Given the description of an element on the screen output the (x, y) to click on. 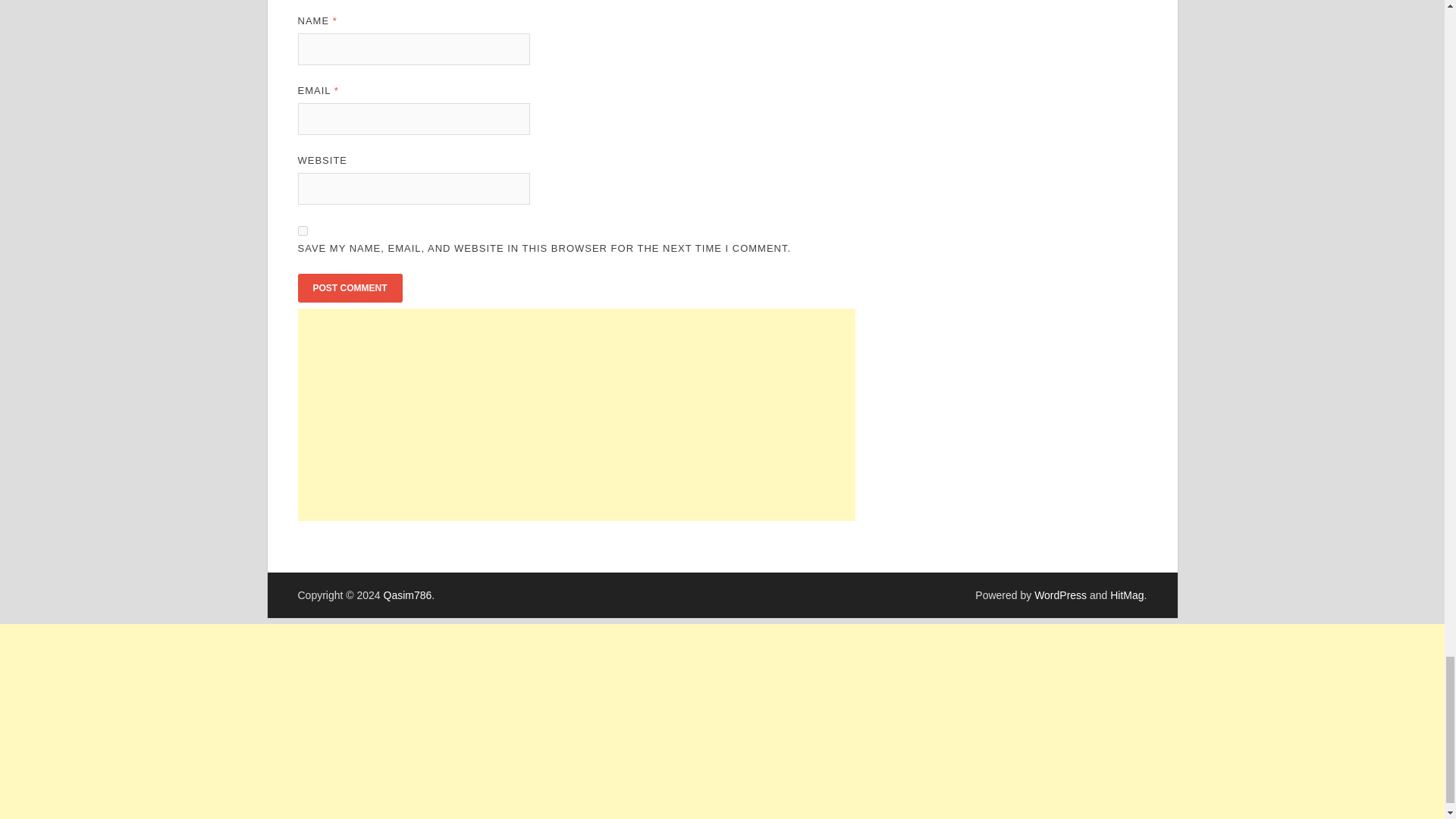
Post Comment (349, 287)
yes (302, 230)
Post Comment (349, 287)
